Given the description of an element on the screen output the (x, y) to click on. 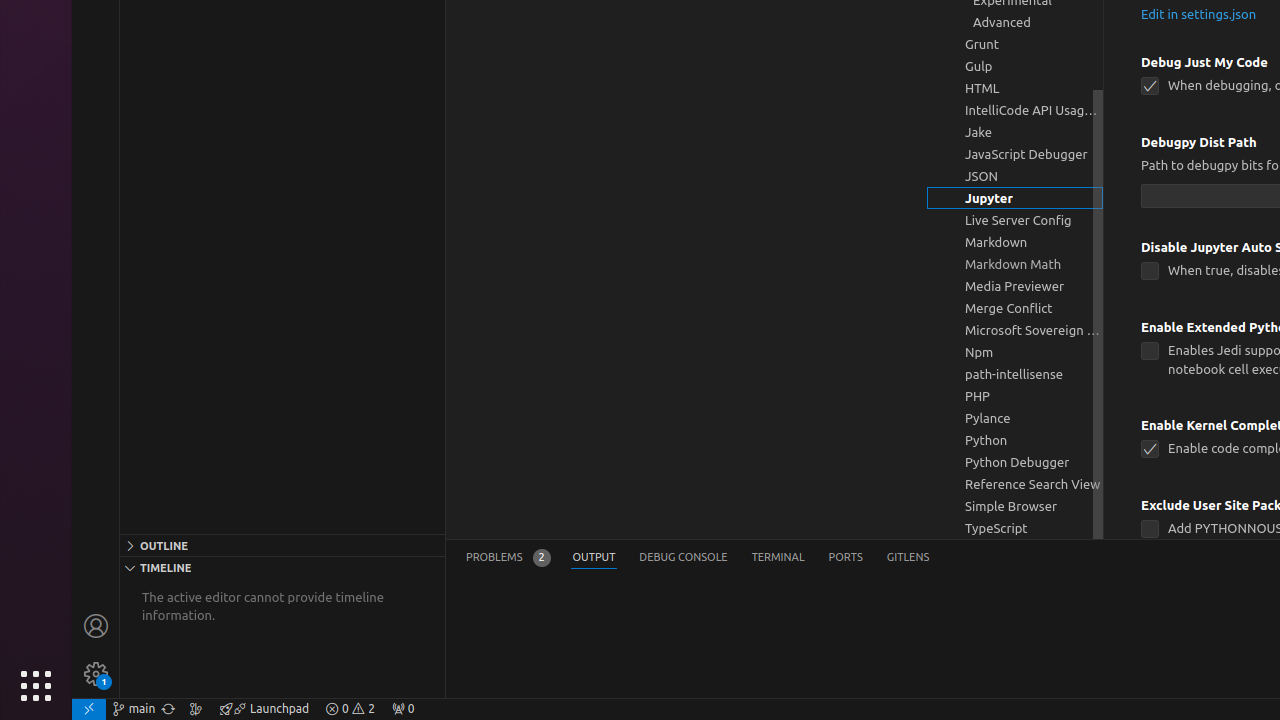
Output (Ctrl+K Ctrl+H) Element type: page-tab (594, 557)
Markdown Math, group Element type: tree-item (1015, 263)
Gulp, group Element type: tree-item (1015, 66)
jupyter.enableExtendedPythonKernelCompletions Element type: check-box (1150, 351)
Grunt, group Element type: tree-item (1015, 44)
